Given the description of an element on the screen output the (x, y) to click on. 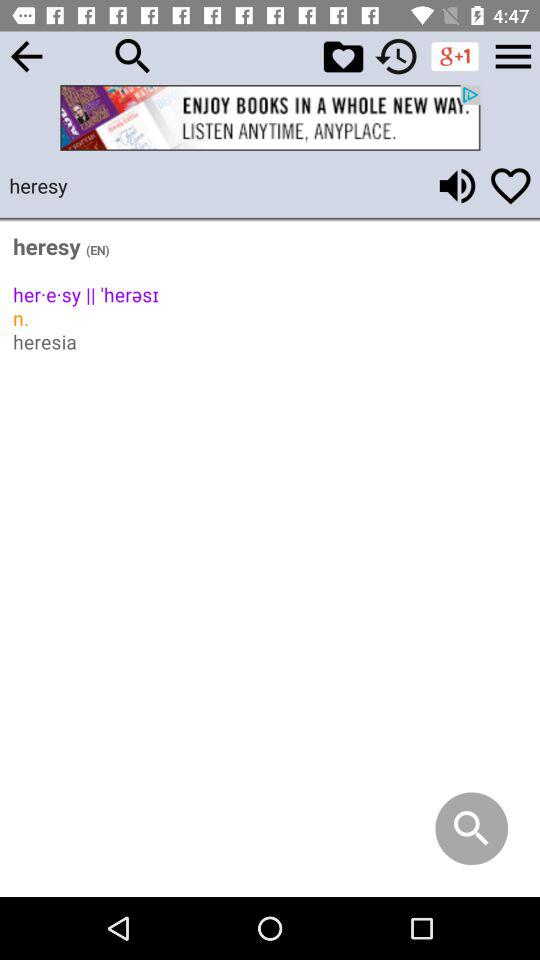
sound of the word (457, 185)
